Given the description of an element on the screen output the (x, y) to click on. 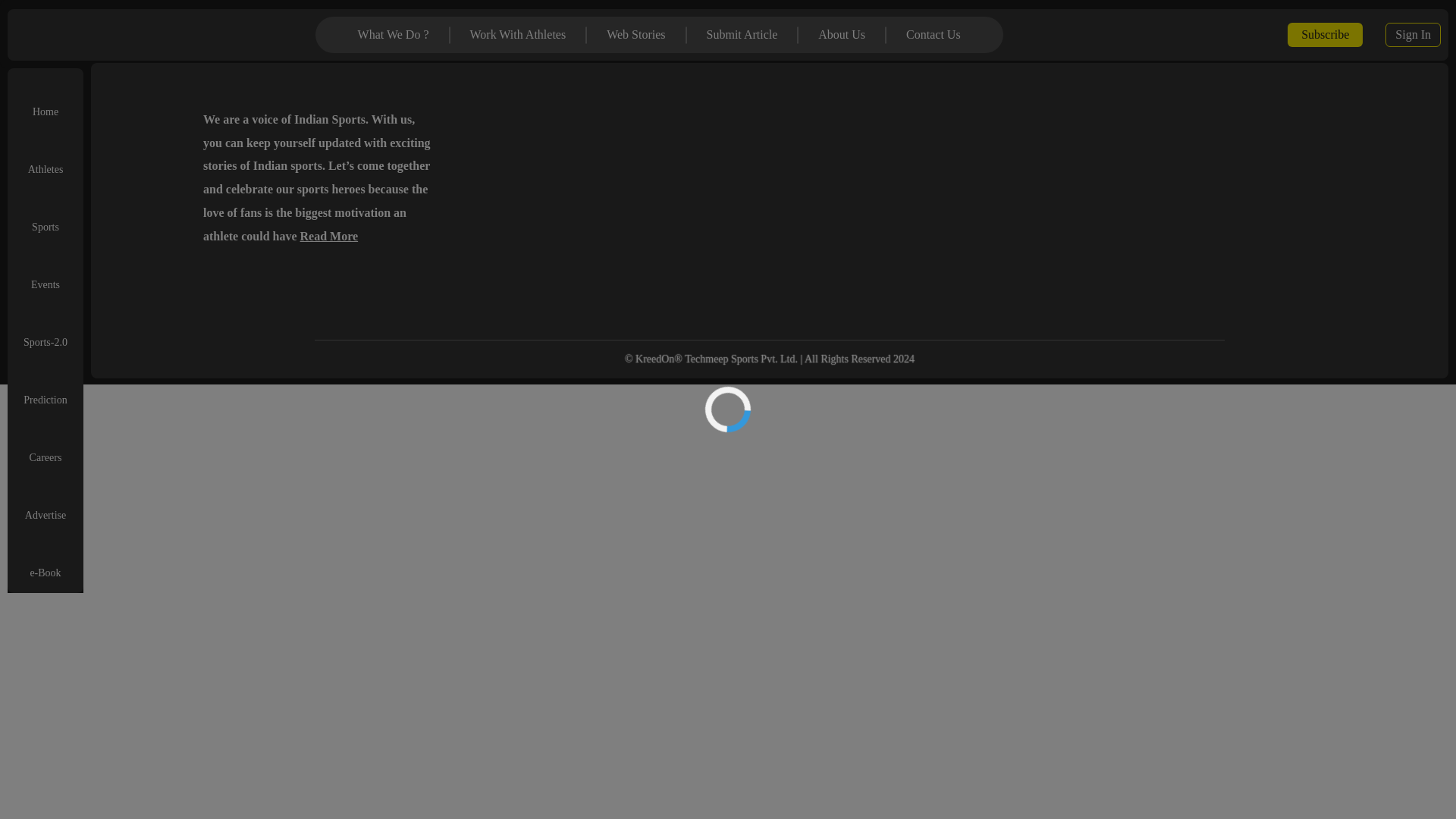
Work With Athletes (518, 34)
Web Stories (635, 34)
Subscribe (1325, 34)
About Us (841, 34)
Sports-2.0 (44, 330)
Read More (328, 236)
Subscribe (1324, 34)
Contact Us (932, 34)
Sign In (1412, 34)
Athletes (45, 157)
